Given the description of an element on the screen output the (x, y) to click on. 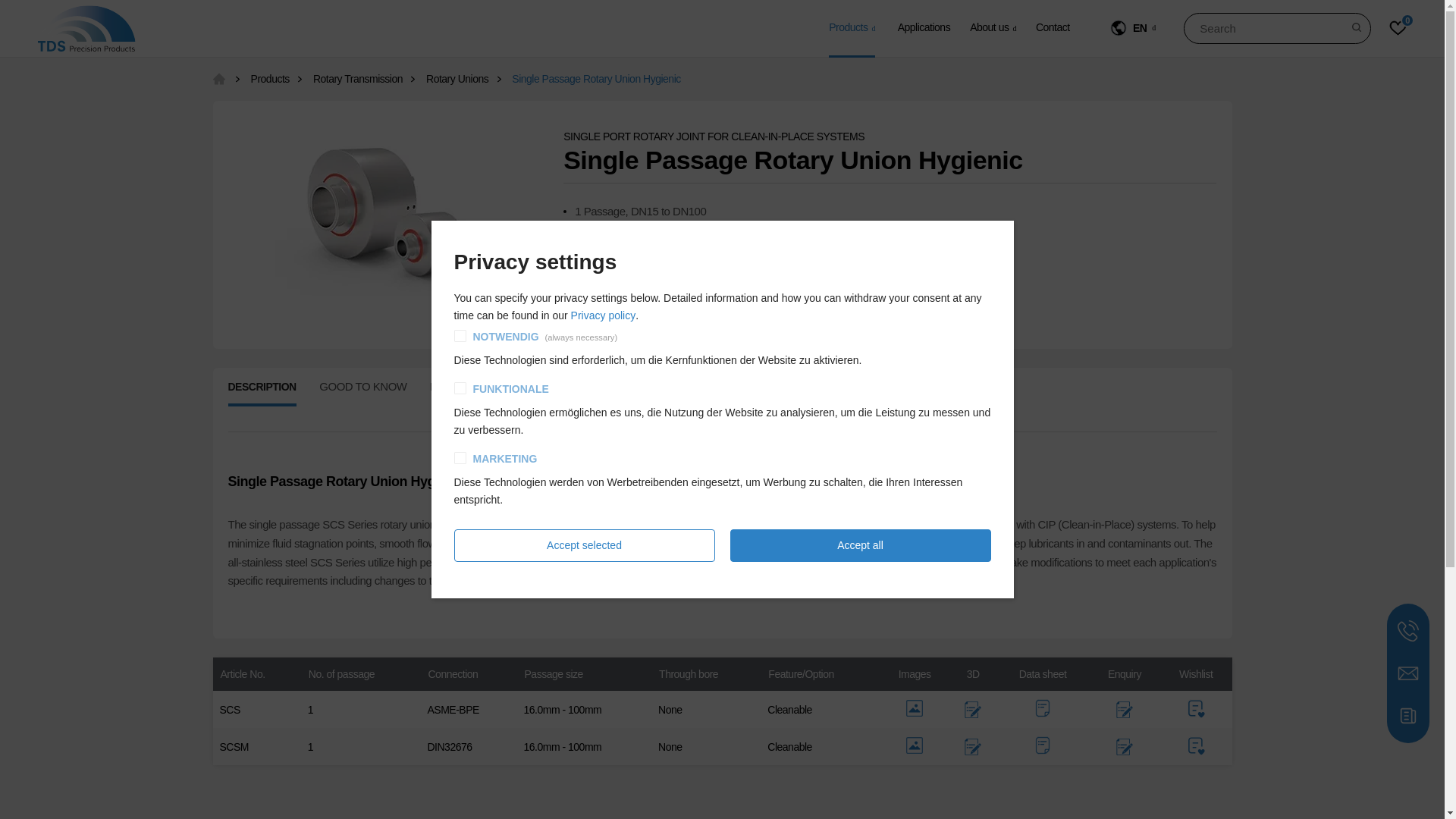
Contact (1052, 27)
Call Us (1407, 630)
About us (992, 27)
0 (1397, 28)
Contact Us (1407, 672)
Products (851, 27)
Single Passage Rotary Union Hygienic (386, 213)
Applications (924, 27)
This application is always required (580, 337)
